Given the description of an element on the screen output the (x, y) to click on. 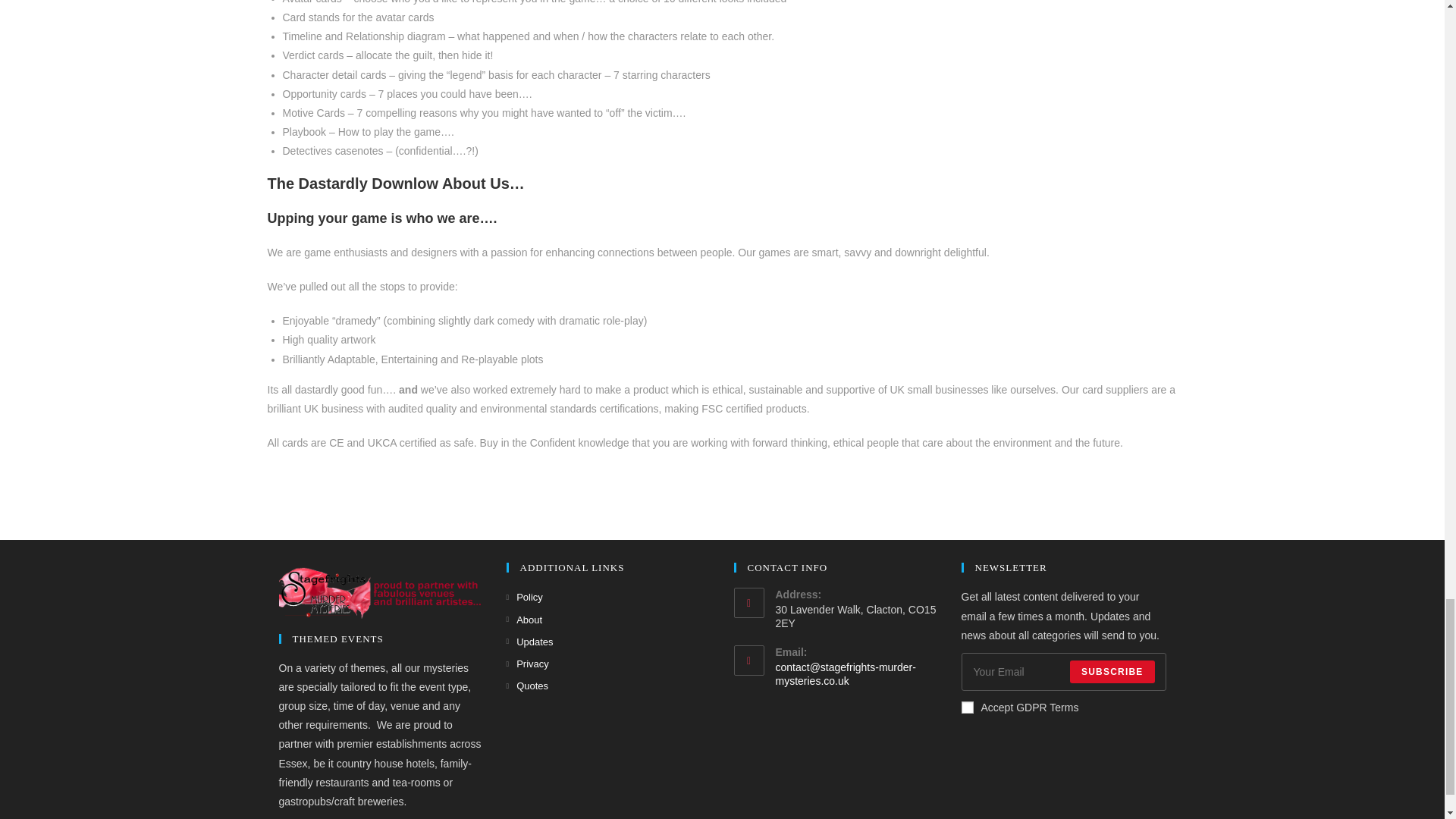
Quotes (527, 685)
Updates (529, 641)
About (524, 619)
1 (967, 707)
Privacy (527, 663)
SUBSCRIBE (1112, 671)
Policy (524, 597)
